Given the description of an element on the screen output the (x, y) to click on. 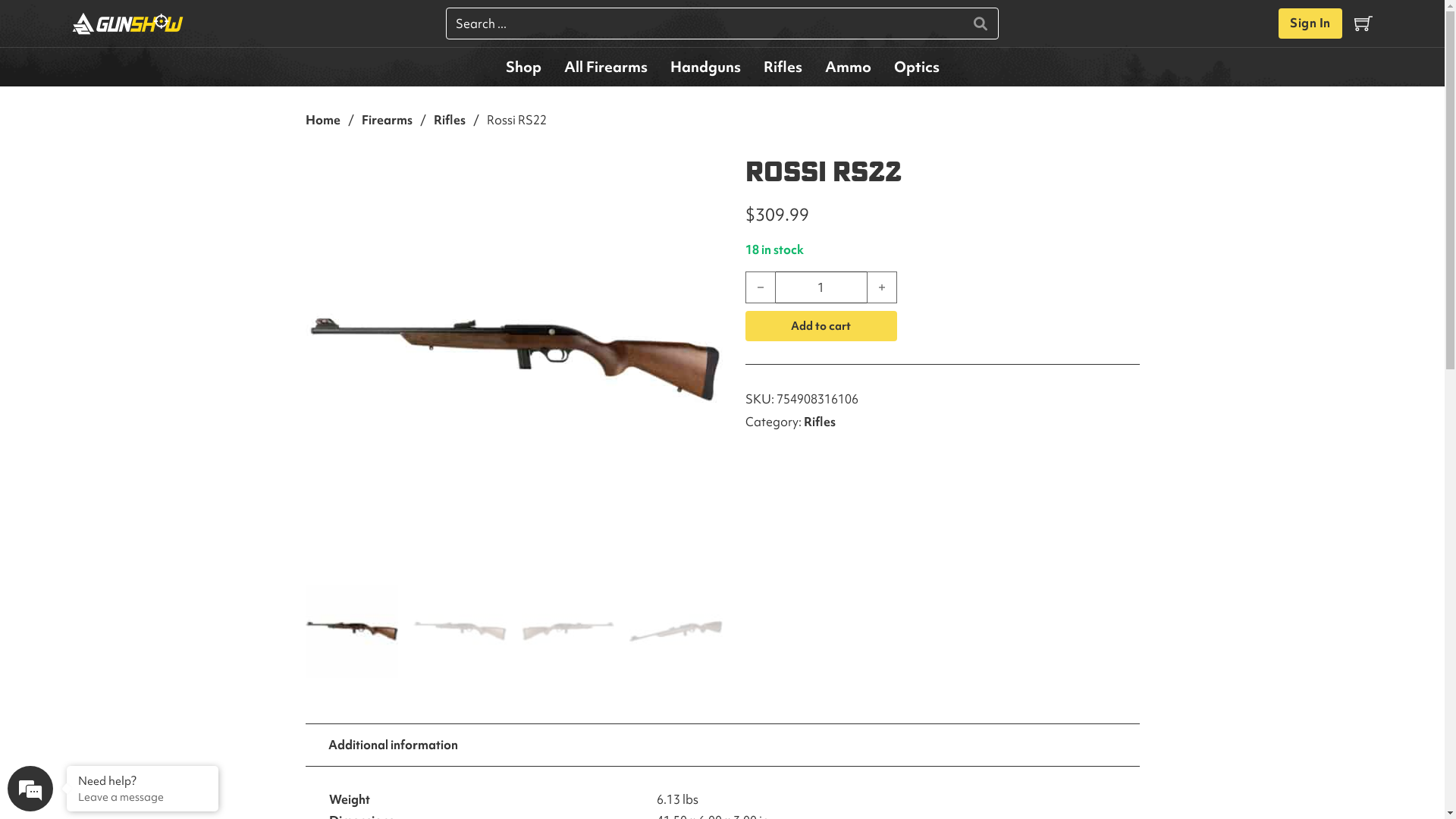
Rifles Element type: text (819, 421)
Add to cart Element type: text (820, 325)
image_270300383624667599 Element type: hover (512, 360)
Rifles Element type: text (782, 66)
Home Element type: text (321, 119)
Ammo Element type: text (846, 66)
Sign In Element type: text (1310, 23)
All Firearms Element type: text (605, 66)
Handguns Element type: text (704, 66)
Optics Element type: text (916, 66)
Additional information Element type: text (392, 744)
Shop Element type: text (523, 66)
Firearms Element type: text (385, 119)
Rifles Element type: text (449, 119)
